Given the description of an element on the screen output the (x, y) to click on. 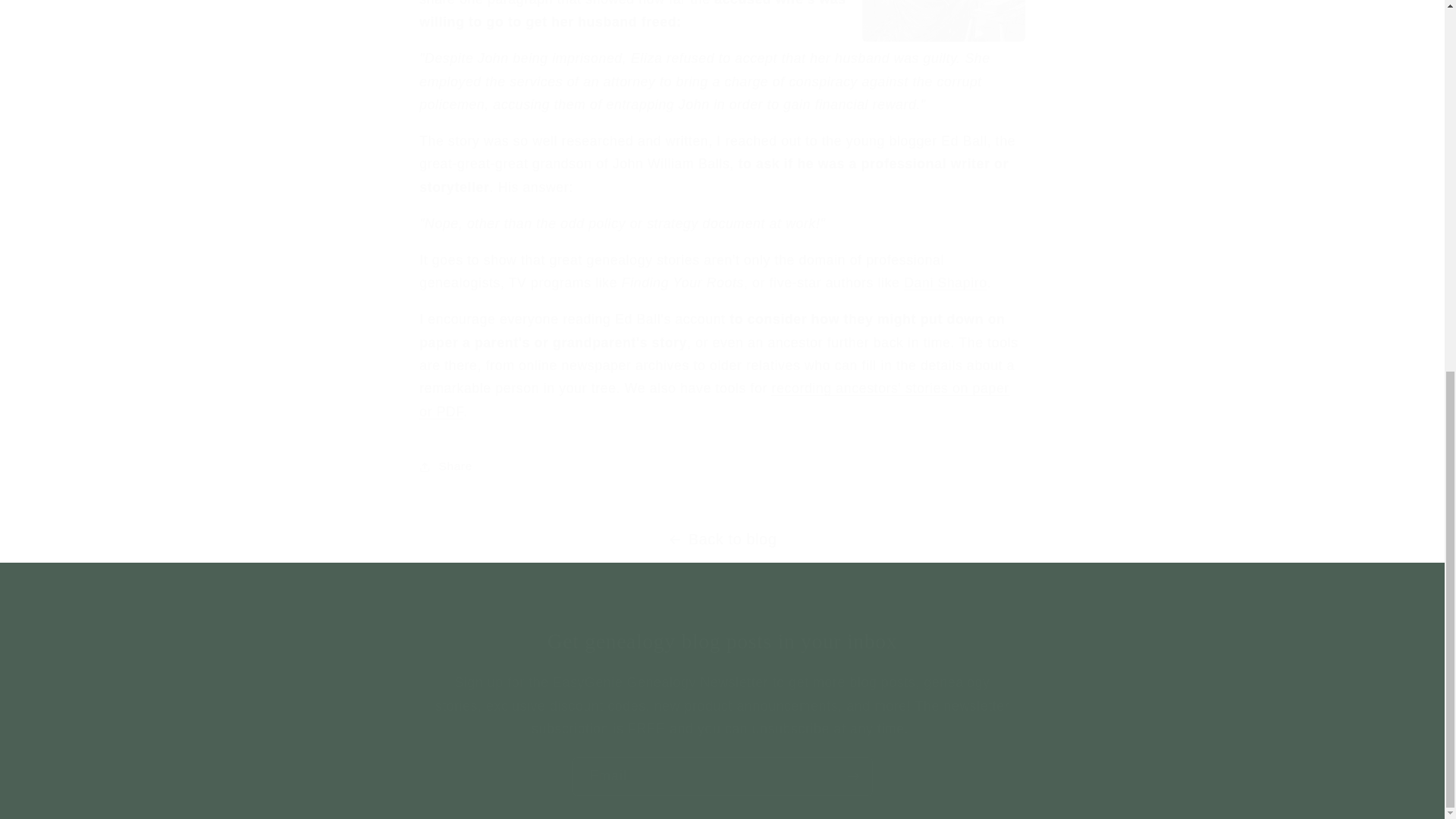
Dani Shapiro (945, 282)
Email (722, 776)
Share (722, 465)
recording ancestors' stories on paper or PDF (714, 399)
Get genealogy blog posts in your inbox (722, 641)
